Given the description of an element on the screen output the (x, y) to click on. 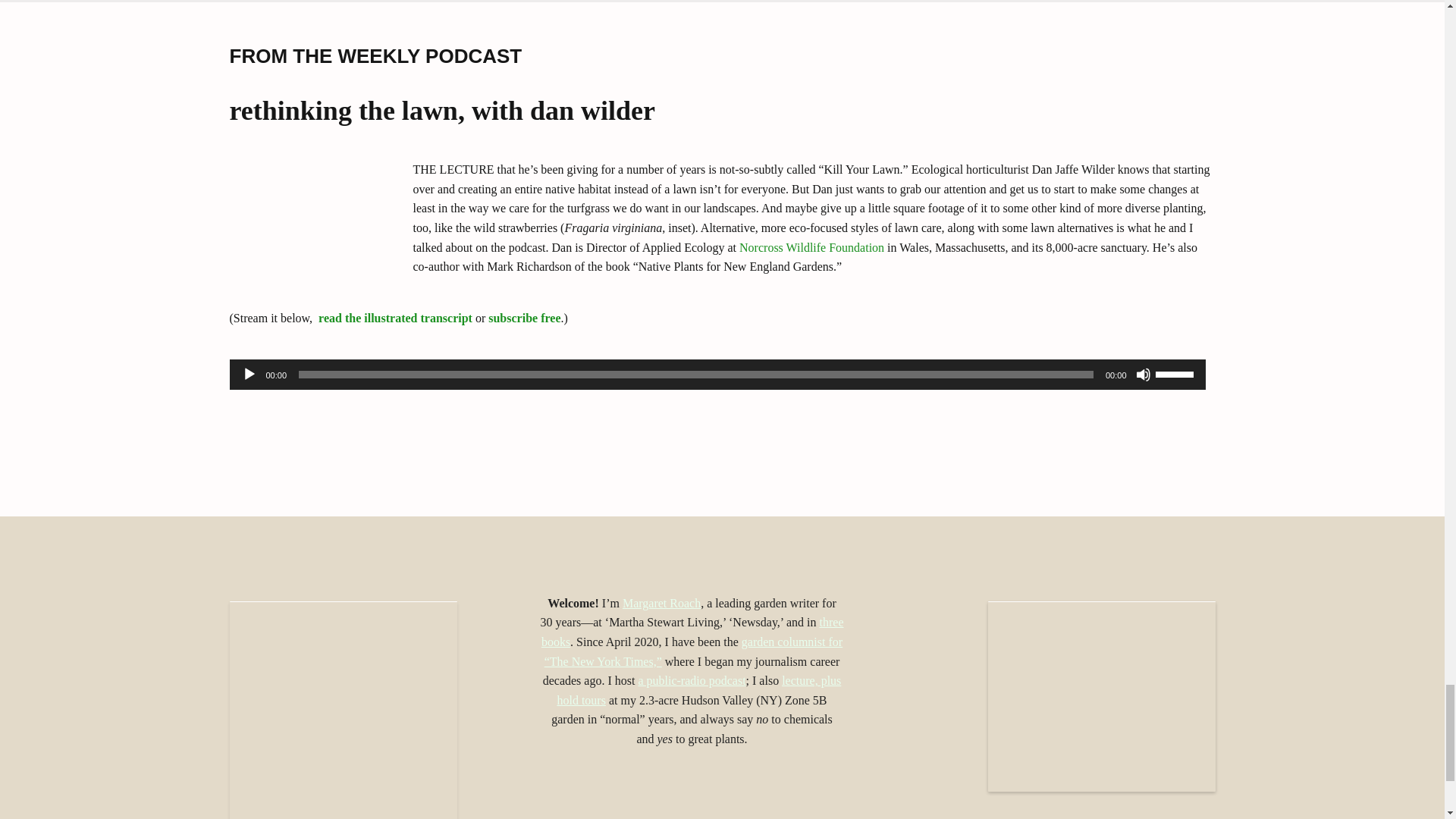
Mute (1143, 374)
Play (248, 374)
